Given the description of an element on the screen output the (x, y) to click on. 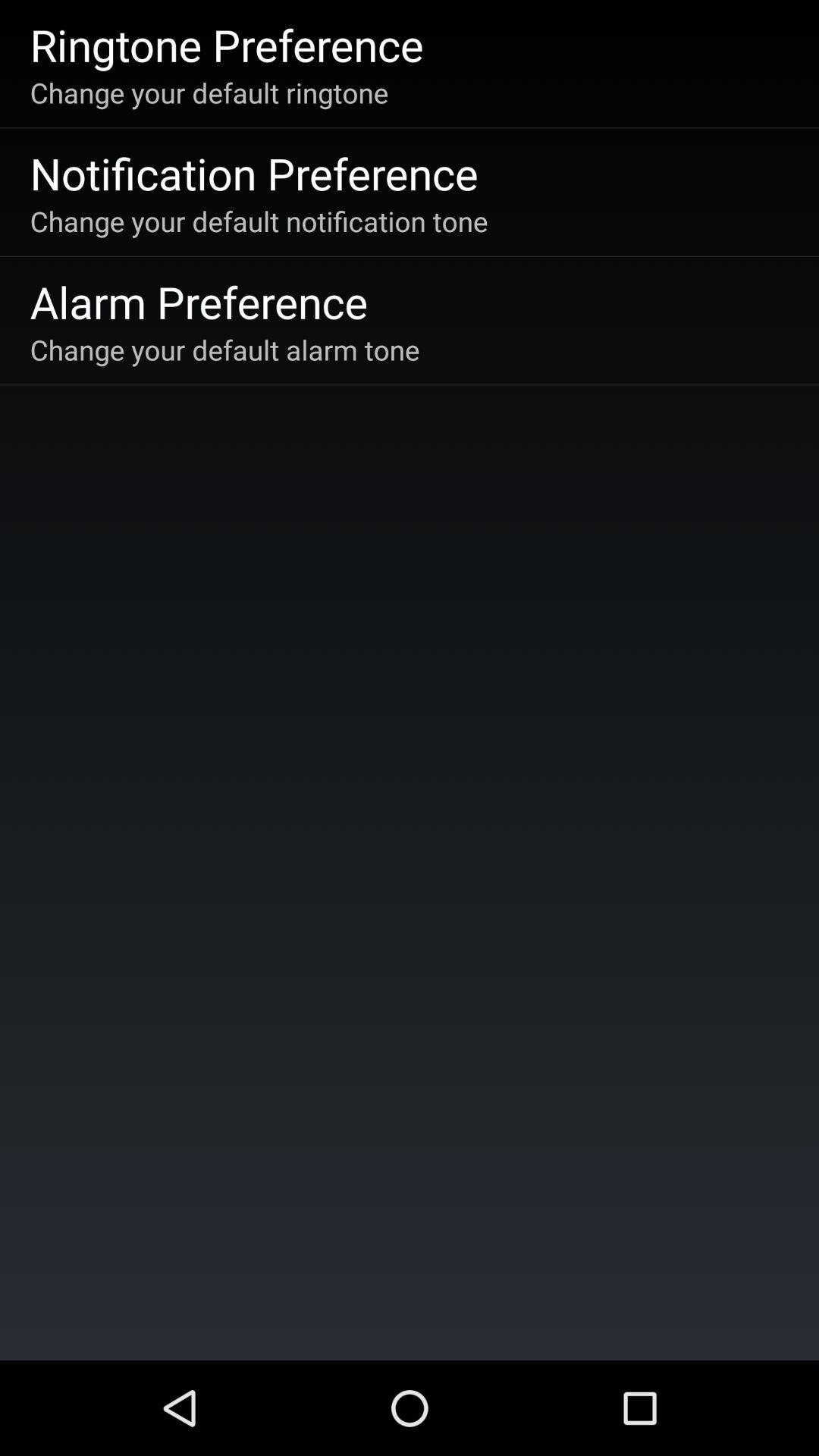
swipe until notification preference icon (254, 172)
